Given the description of an element on the screen output the (x, y) to click on. 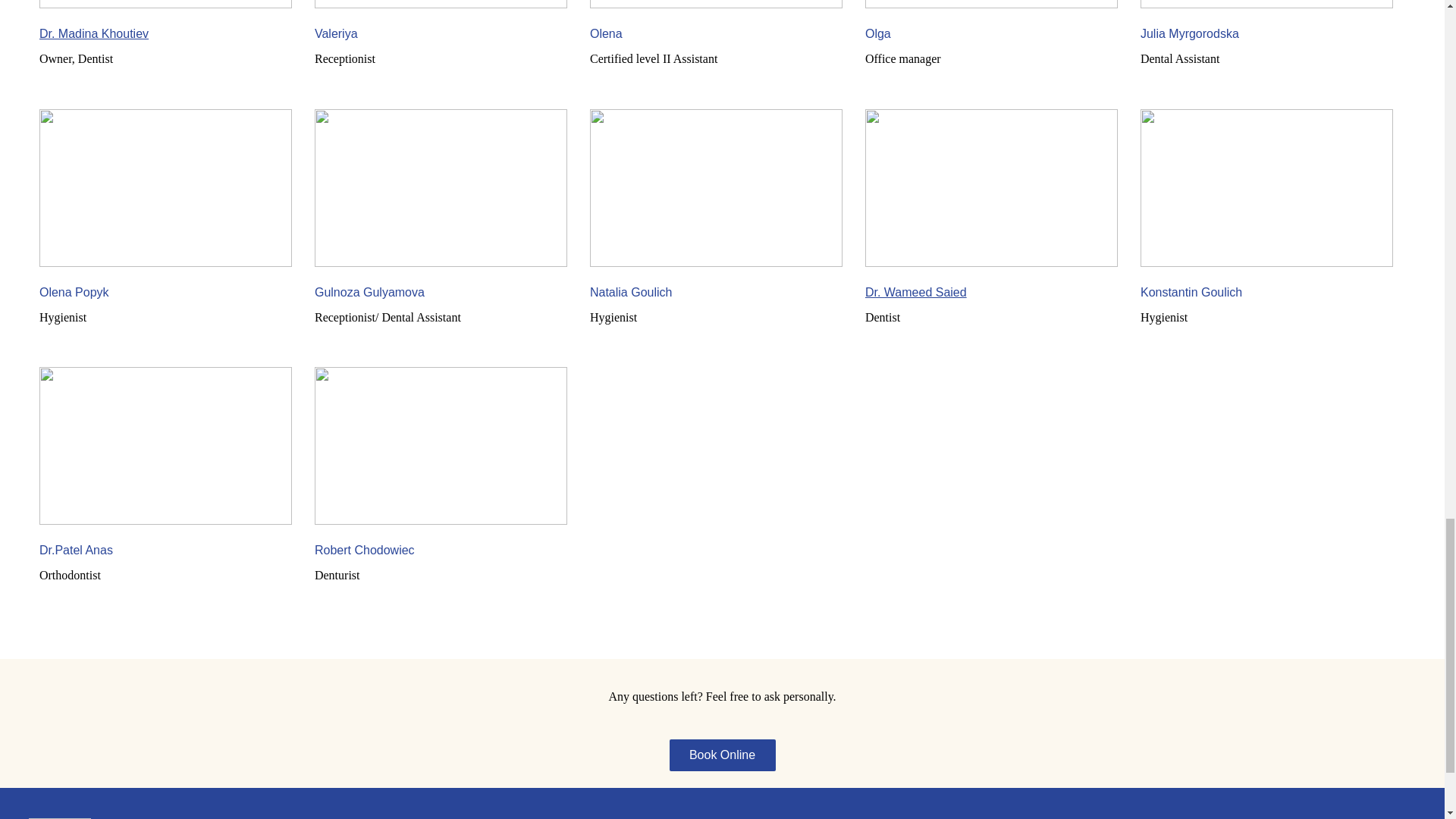
Dr. Wameed Saied (915, 291)
Dr. Madina Khoutiev (93, 33)
Book Online (721, 755)
